Given the description of an element on the screen output the (x, y) to click on. 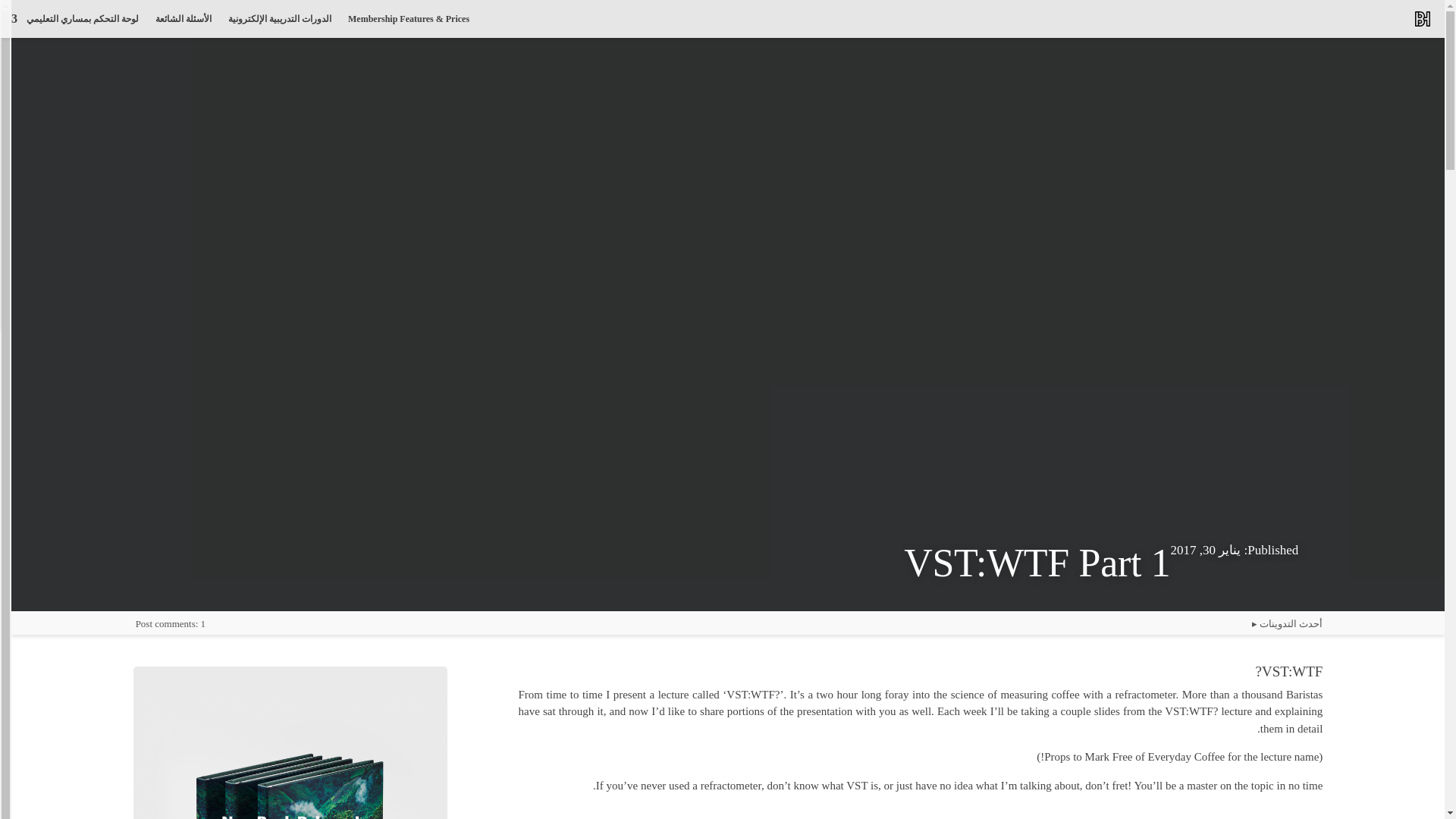
Post comments: 1 (170, 623)
Terroir Cover - Blog Sidebar Ad 02 (290, 742)
